Given the description of an element on the screen output the (x, y) to click on. 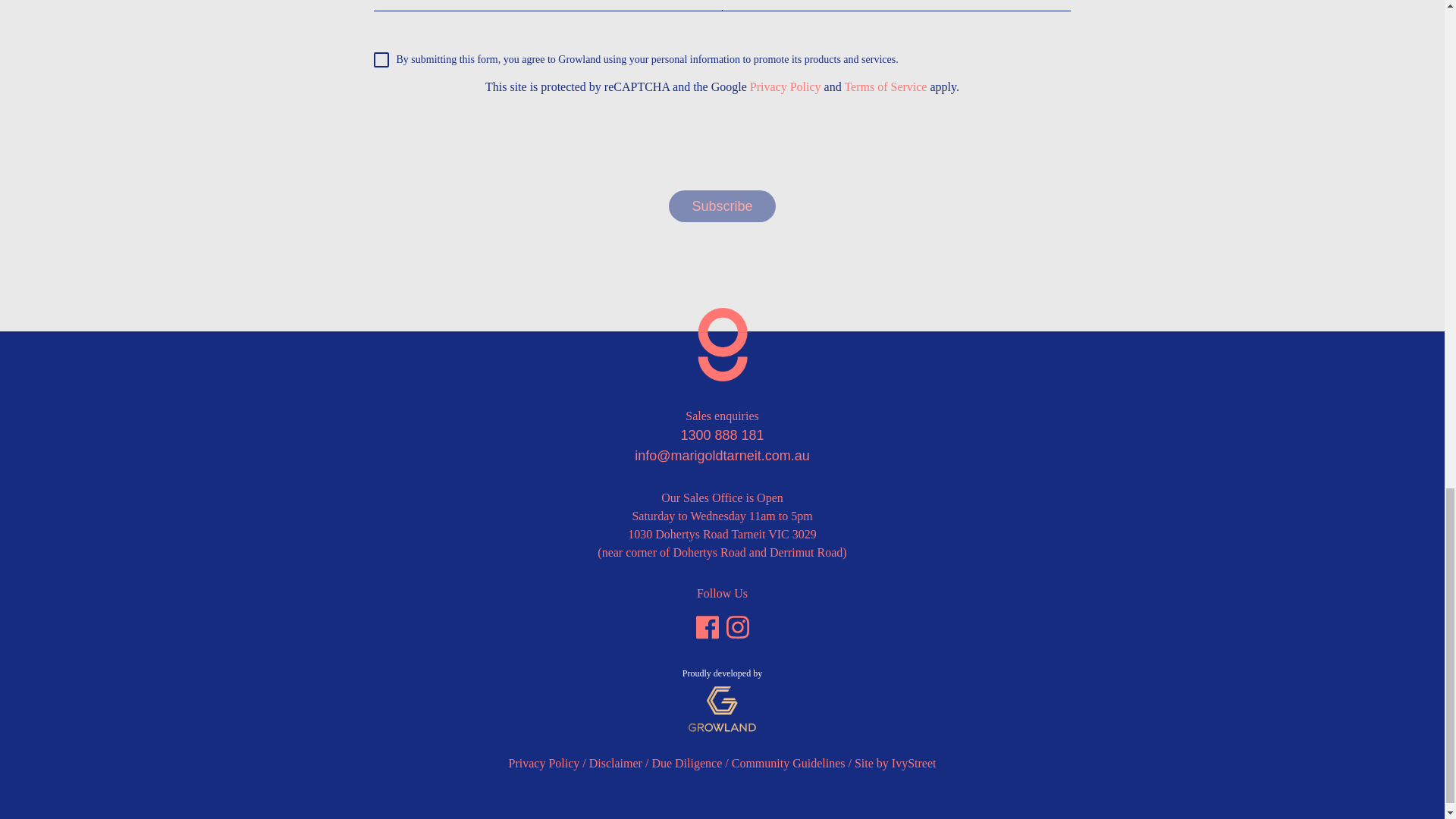
Site by IvyStreet (895, 762)
Proudly developed by (721, 699)
Disclaimer (615, 762)
Terms of Service (885, 86)
Please Select... (717, 5)
Privacy Policy (785, 86)
Community Guidelines (788, 762)
1300 888 181 (720, 435)
Subscribe (721, 205)
Due Diligence (686, 762)
Privacy Policy (543, 762)
